Given the description of an element on the screen output the (x, y) to click on. 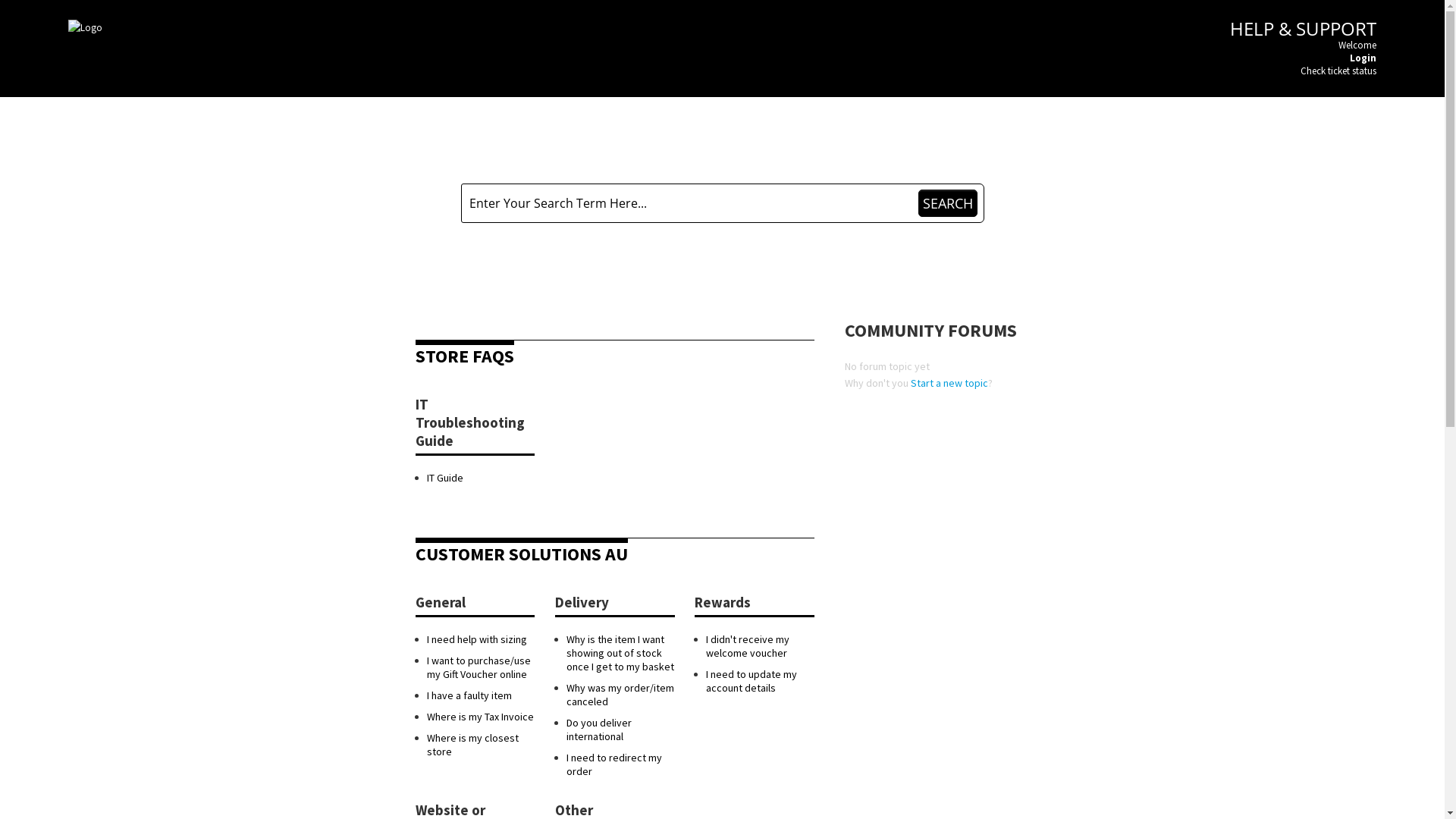
SEARCH Element type: text (946, 202)
Check ticket status Element type: text (1338, 70)
CUSTOMER SOLUTIONS AU Element type: text (521, 553)
Where is my Tax Invoice Element type: text (479, 716)
General Element type: text (440, 602)
I want to purchase/use my Gift Voucher online Element type: text (478, 666)
I didn't receive my welcome voucher Element type: text (747, 645)
HELP & SUPPORT Element type: text (1303, 27)
IT Troubleshooting Guide Element type: text (469, 422)
Why was my order/item canceled Element type: text (620, 694)
Start a new topic Element type: text (949, 382)
I need to update my account details Element type: text (751, 680)
Where is my closest store Element type: text (471, 744)
I have a faulty item Element type: text (468, 695)
STORE FAQS Element type: text (464, 355)
IT Guide Element type: text (444, 477)
Delivery Element type: text (581, 602)
Login Element type: text (1362, 57)
Do you deliver international Element type: text (598, 729)
I need help with sizing Element type: text (476, 639)
Rewards Element type: text (722, 602)
I need to redirect my order Element type: text (614, 764)
